Given the description of an element on the screen output the (x, y) to click on. 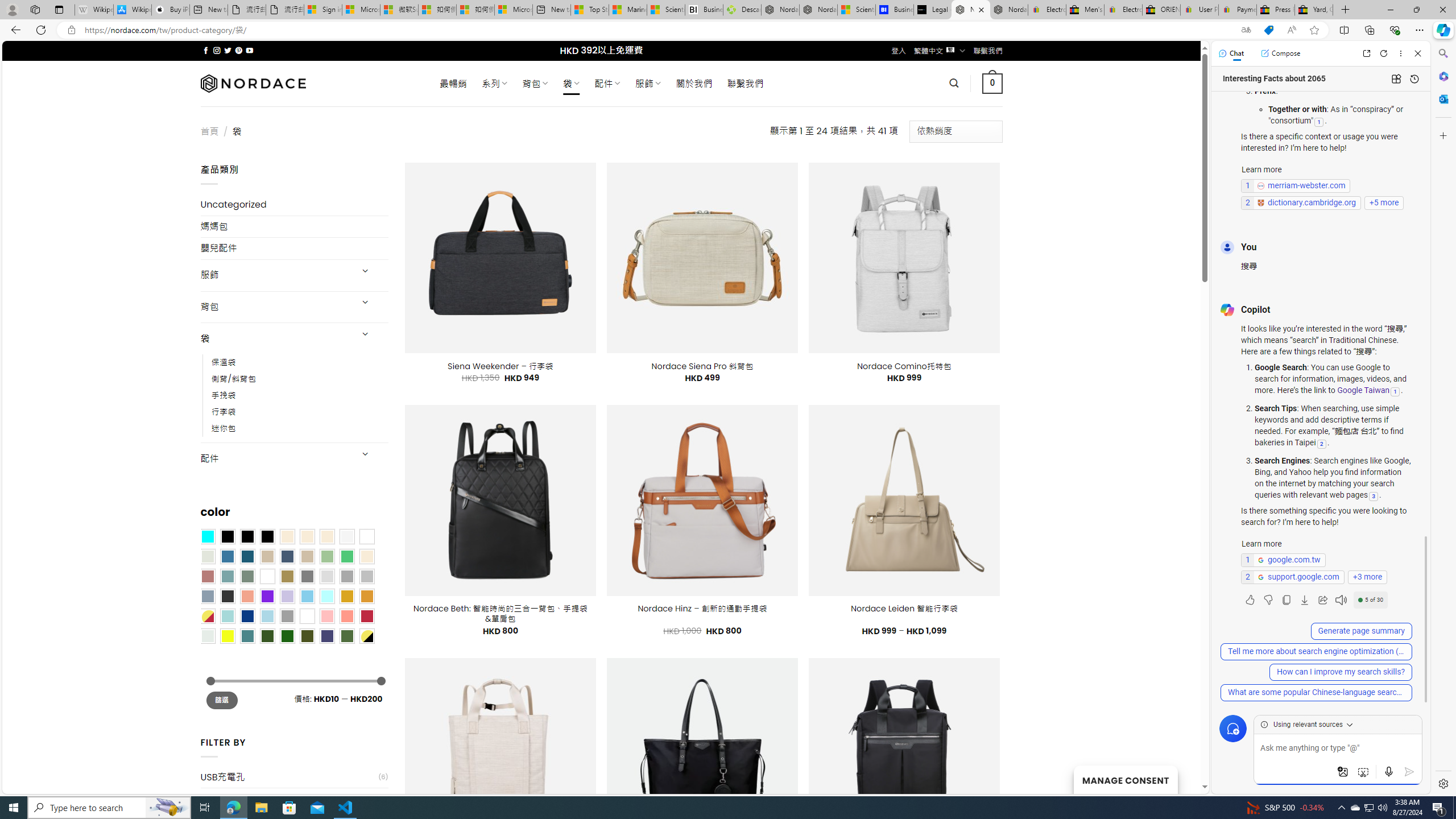
Press Room - eBay Inc. (1276, 9)
Payments Terms of Use | eBay.com (1237, 9)
Yard, Garden & Outdoor Living (1314, 9)
